Given the description of an element on the screen output the (x, y) to click on. 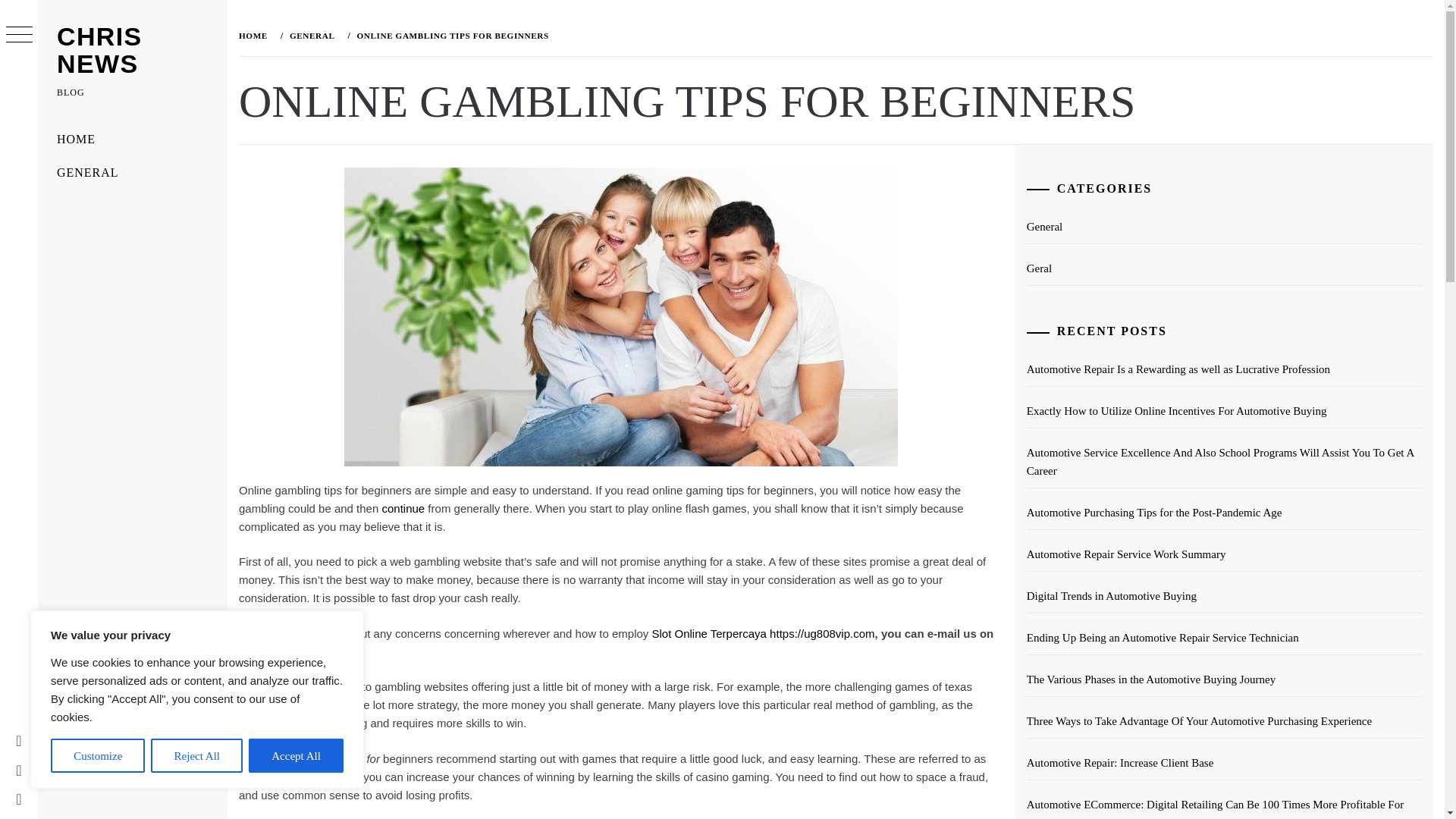
HOME (132, 139)
Reject All (197, 755)
HOME (255, 35)
Accept All (295, 755)
ONLINE GAMBLING TIPS FOR BEGINNERS (450, 35)
GENERAL (310, 35)
continue (403, 508)
Customize (97, 755)
CHRIS NEWS (99, 49)
GENERAL (132, 172)
